Given the description of an element on the screen output the (x, y) to click on. 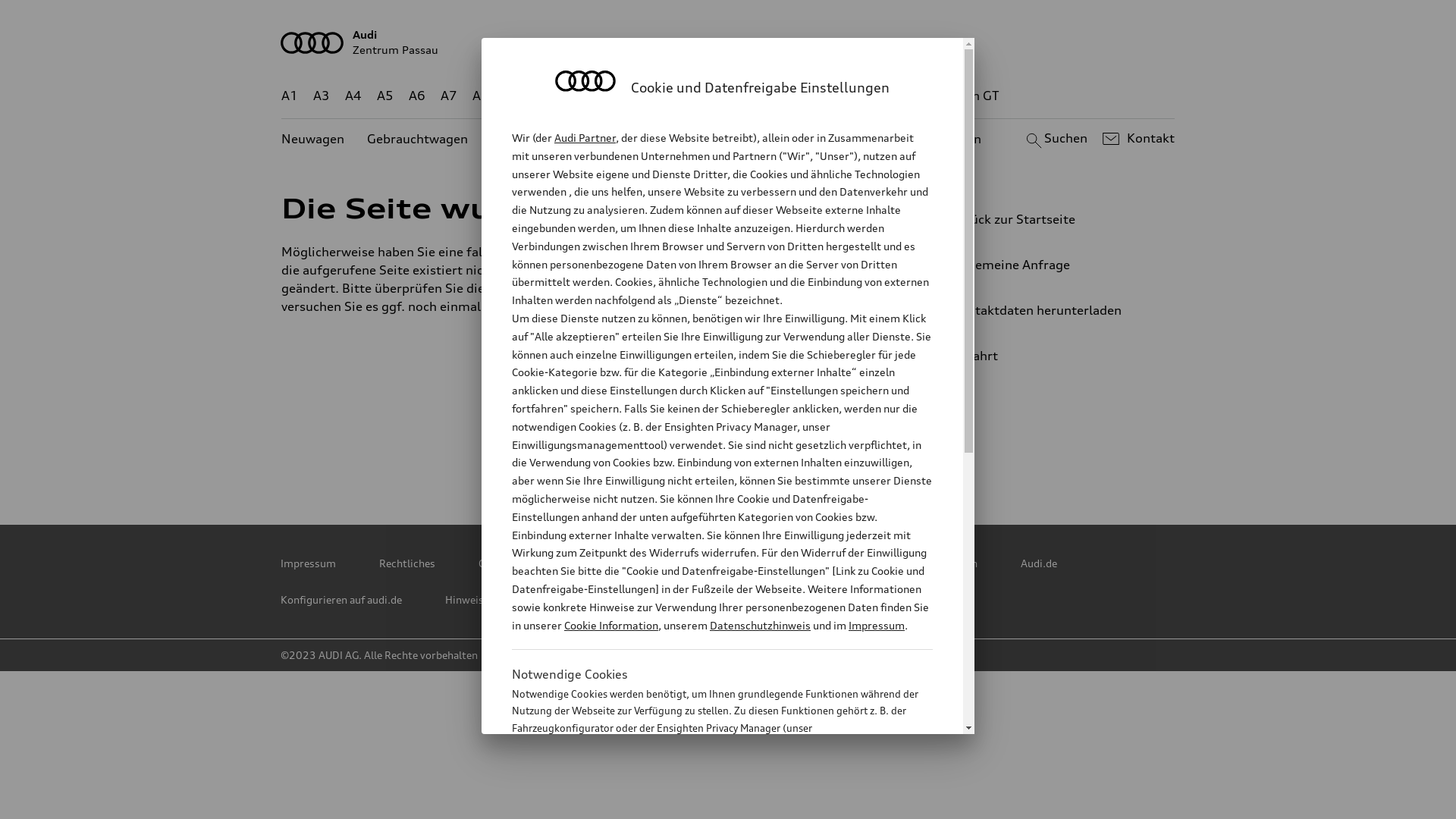
Q7 Element type: text (683, 95)
Konfigurieren auf audi.de Element type: text (340, 599)
Q5 Element type: text (650, 95)
Q3 Element type: text (545, 95)
Copyright & Haftungsausschluss Element type: text (557, 563)
Anfahrt Element type: text (1049, 355)
Gebrauchtwagen Element type: text (417, 139)
Kontakt Element type: text (1135, 138)
Q4 e-tron Element type: text (598, 95)
RS Element type: text (866, 95)
Cookie und Datenfreigabe Einstellungen Element type: text (881, 563)
A5 Element type: text (384, 95)
g-tron Element type: text (908, 95)
TT Element type: text (820, 95)
Hinweisgebersystem Element type: text (495, 599)
Datenschutzhinweis Element type: text (759, 624)
Audi
Zentrum Passau Element type: text (727, 42)
YouTube Element type: hover (730, 452)
Allgemeine Anfrage Element type: text (1043, 264)
A7 Element type: text (448, 95)
Audi.de Element type: text (1038, 563)
Q8 Element type: text (715, 95)
e-tron GT Element type: text (970, 95)
Cookie Information Element type: text (705, 802)
Cookie Policy Element type: text (711, 563)
Facebook Element type: hover (663, 452)
A6 Element type: text (416, 95)
Angebote Element type: text (641, 139)
Rechtliches Element type: text (407, 563)
Suchen Element type: text (1054, 138)
Impressum Element type: text (307, 563)
Neuwagen Element type: text (312, 139)
Cookie Information Element type: text (611, 624)
Q2 Element type: text (512, 95)
Audi Partner Element type: text (584, 137)
A3 Element type: text (321, 95)
A8 Element type: text (480, 95)
Q8 e-tron Element type: text (768, 95)
Kontaktdaten herunterladen Element type: text (1043, 309)
A4 Element type: text (353, 95)
Kundenservice Element type: text (736, 139)
Impressum Element type: text (876, 624)
Instagram Element type: hover (796, 452)
A1 Element type: text (289, 95)
